Given the description of an element on the screen output the (x, y) to click on. 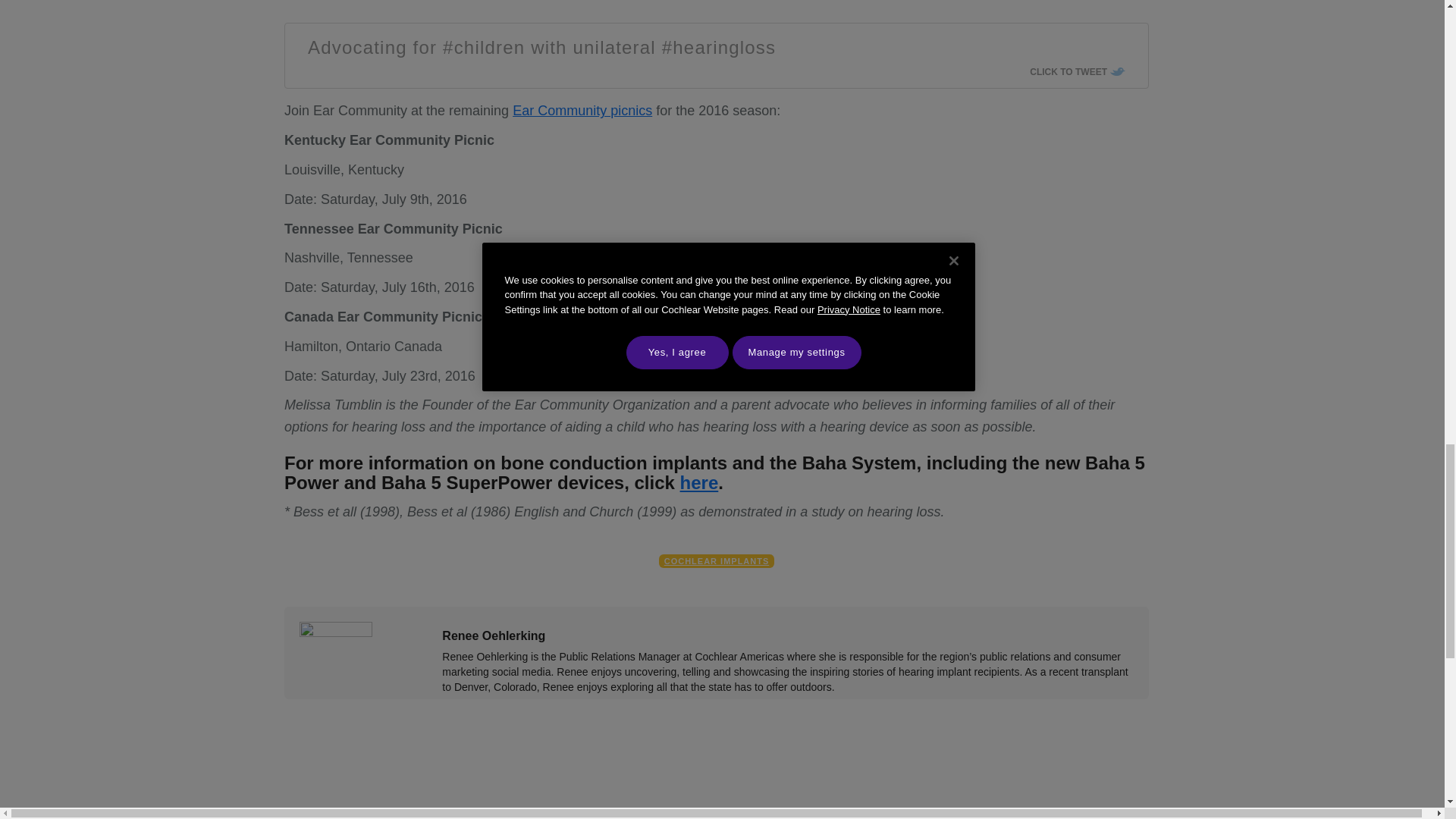
COCHLEAR IMPLANTS (716, 560)
Ear Community picnics (582, 110)
CLICK TO TWEET (1077, 71)
here (699, 482)
